Given the description of an element on the screen output the (x, y) to click on. 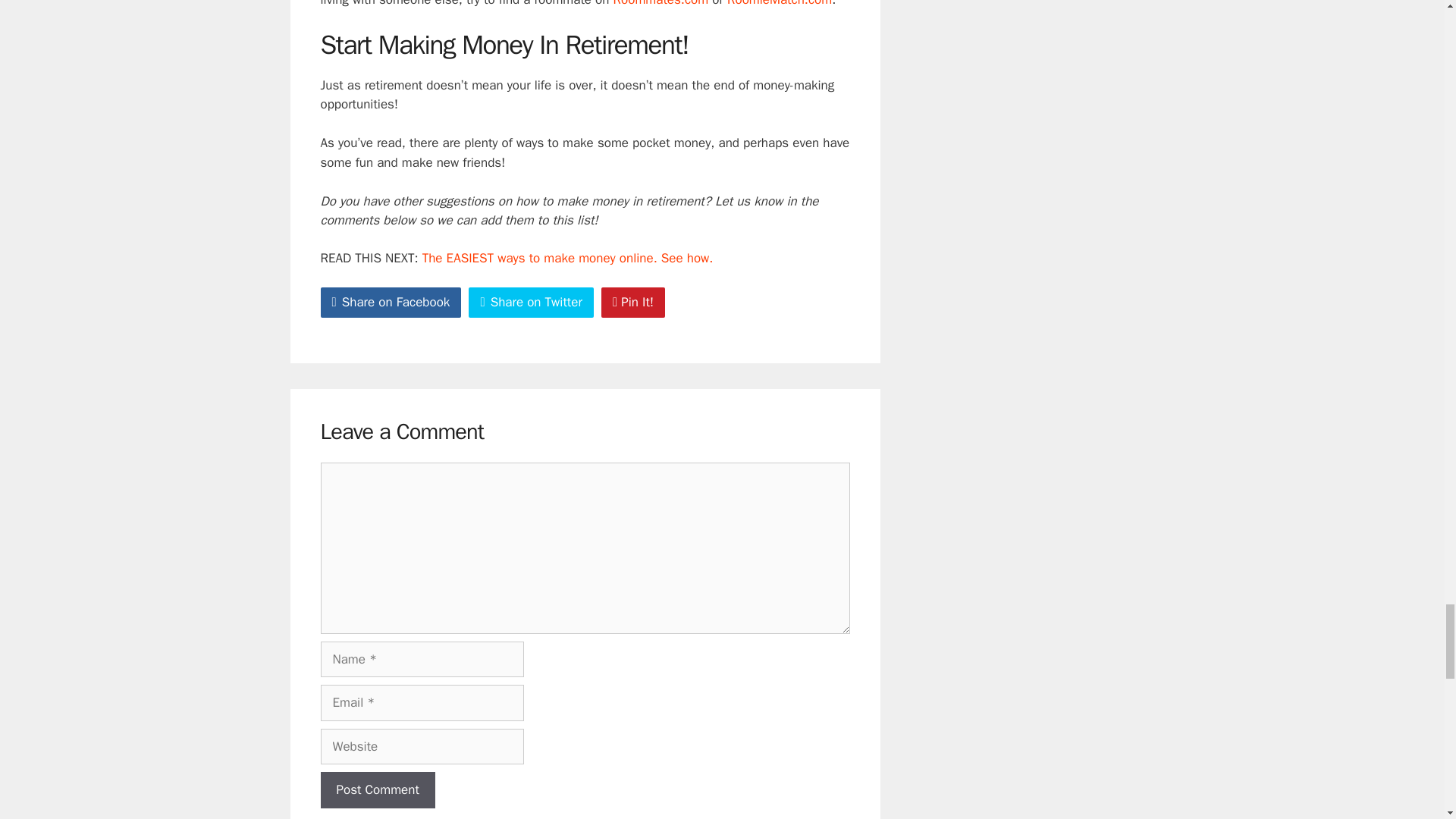
Share on Facebook! (390, 302)
Post Comment (376, 790)
Share on Twitter! (530, 302)
Share on Pinterest! (633, 302)
